Given the description of an element on the screen output the (x, y) to click on. 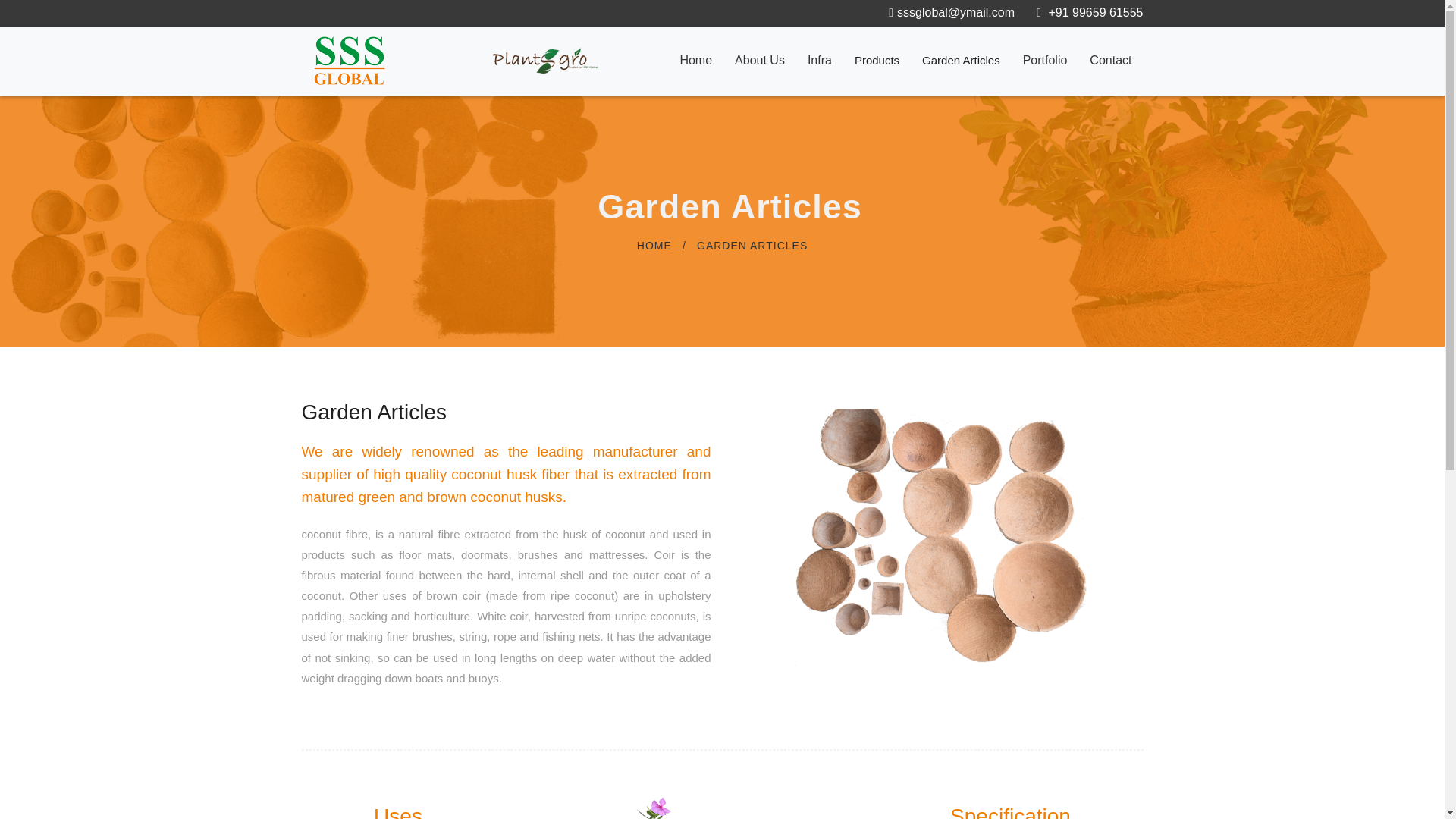
Contact (1110, 60)
HOME (654, 245)
About Us (759, 60)
Infra (819, 60)
Products (876, 60)
Portfolio (1044, 60)
Garden Articles (960, 60)
Home (695, 60)
GARDEN ARTICLES (752, 245)
